Given the description of an element on the screen output the (x, y) to click on. 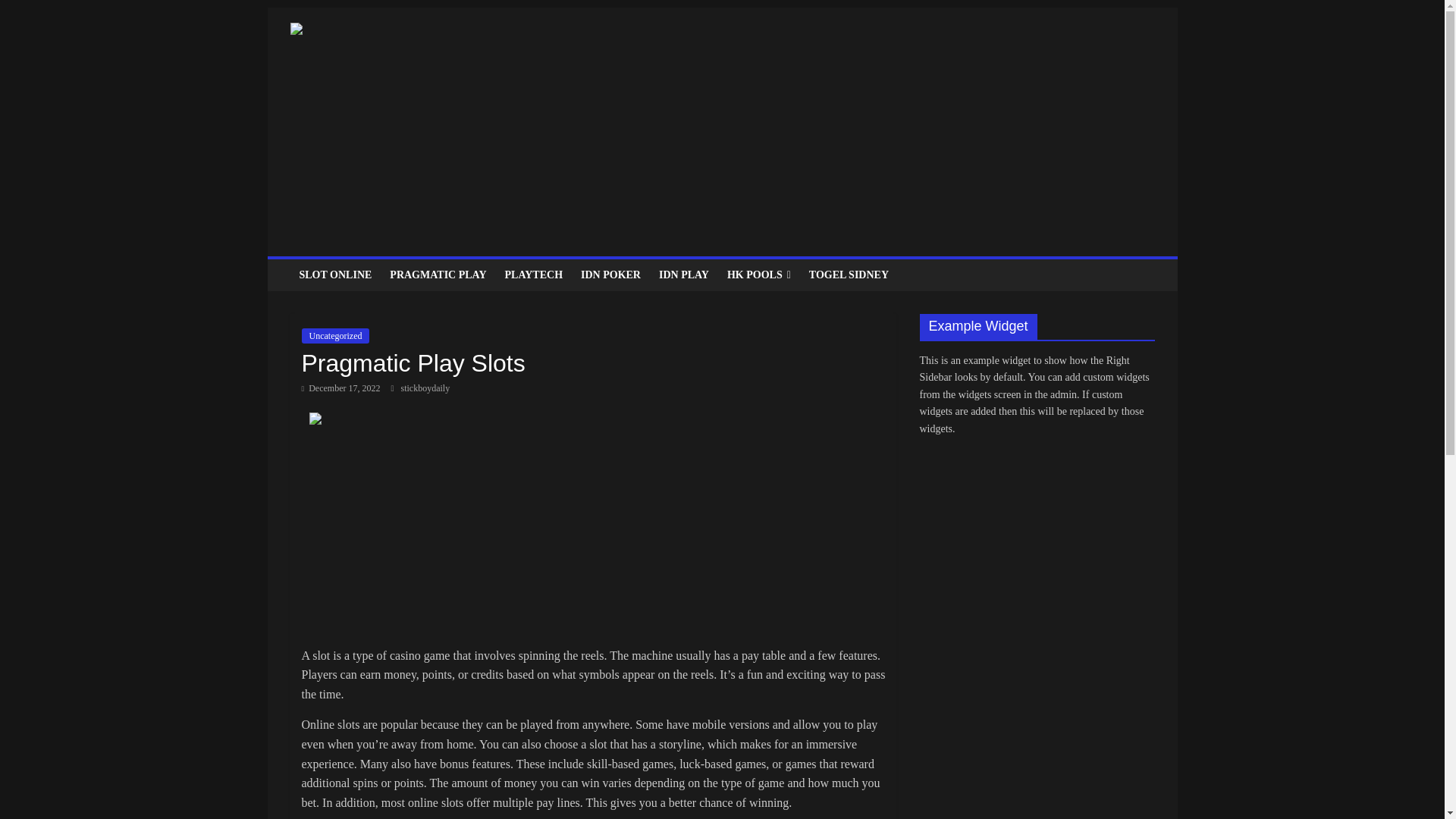
stickboydaily (424, 388)
PLAYTECH (534, 275)
PRAGMATIC PLAY (437, 275)
SLOT ONLINE (334, 275)
IDN PLAY (683, 275)
HK POOLS (758, 275)
Uncategorized (335, 335)
TOGEL SIDNEY (848, 275)
10:06 am (340, 388)
IDN POKER (610, 275)
December 17, 2022 (340, 388)
stickboydaily (424, 388)
